Given the description of an element on the screen output the (x, y) to click on. 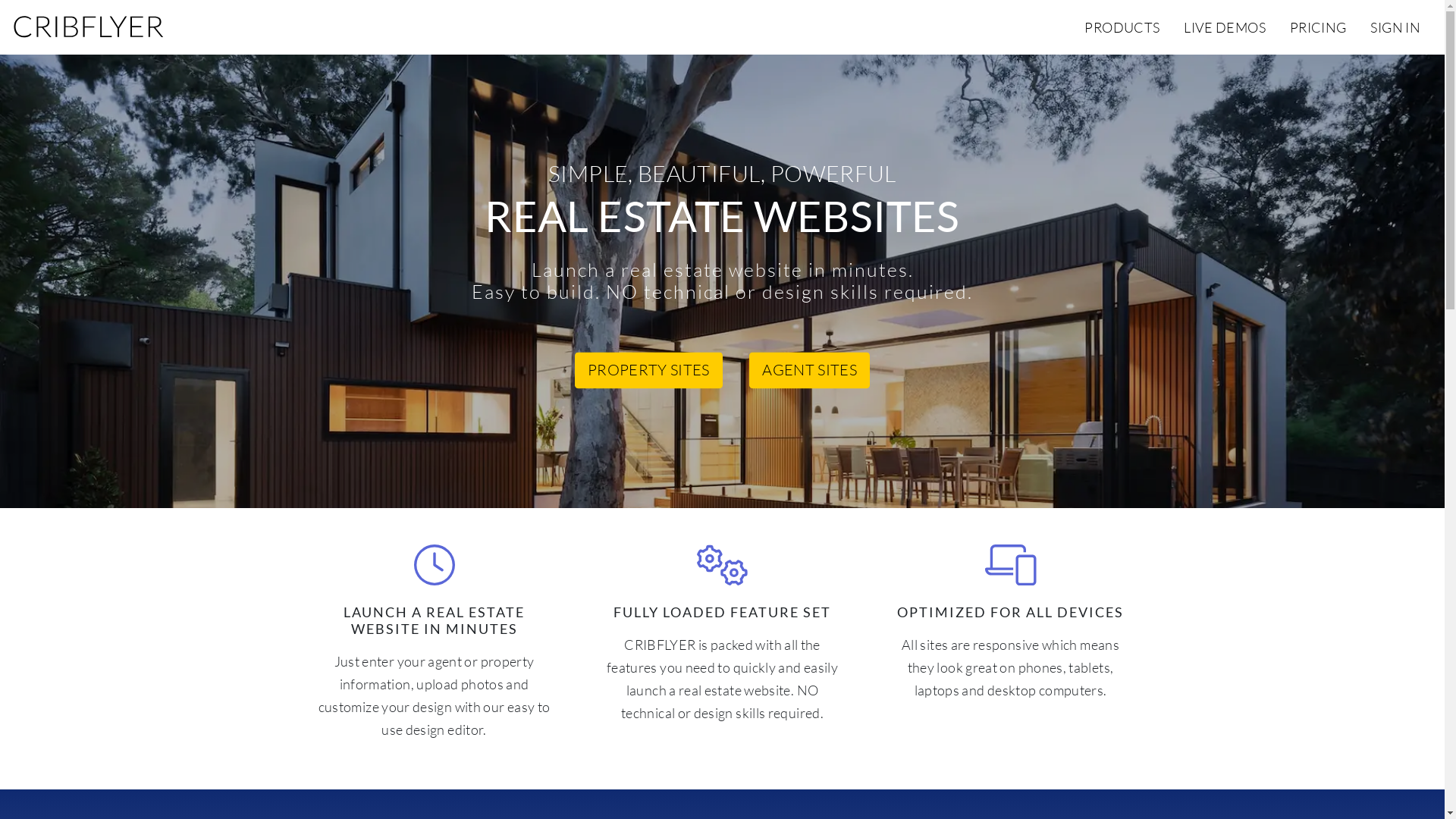
LIVE DEMOS Element type: text (1224, 27)
SIGN IN Element type: text (1395, 27)
AGENT SITES Element type: text (809, 370)
PRICING Element type: text (1317, 27)
PROPERTY SITES Element type: text (648, 370)
PRODUCTS Element type: text (1121, 27)
